Given the description of an element on the screen output the (x, y) to click on. 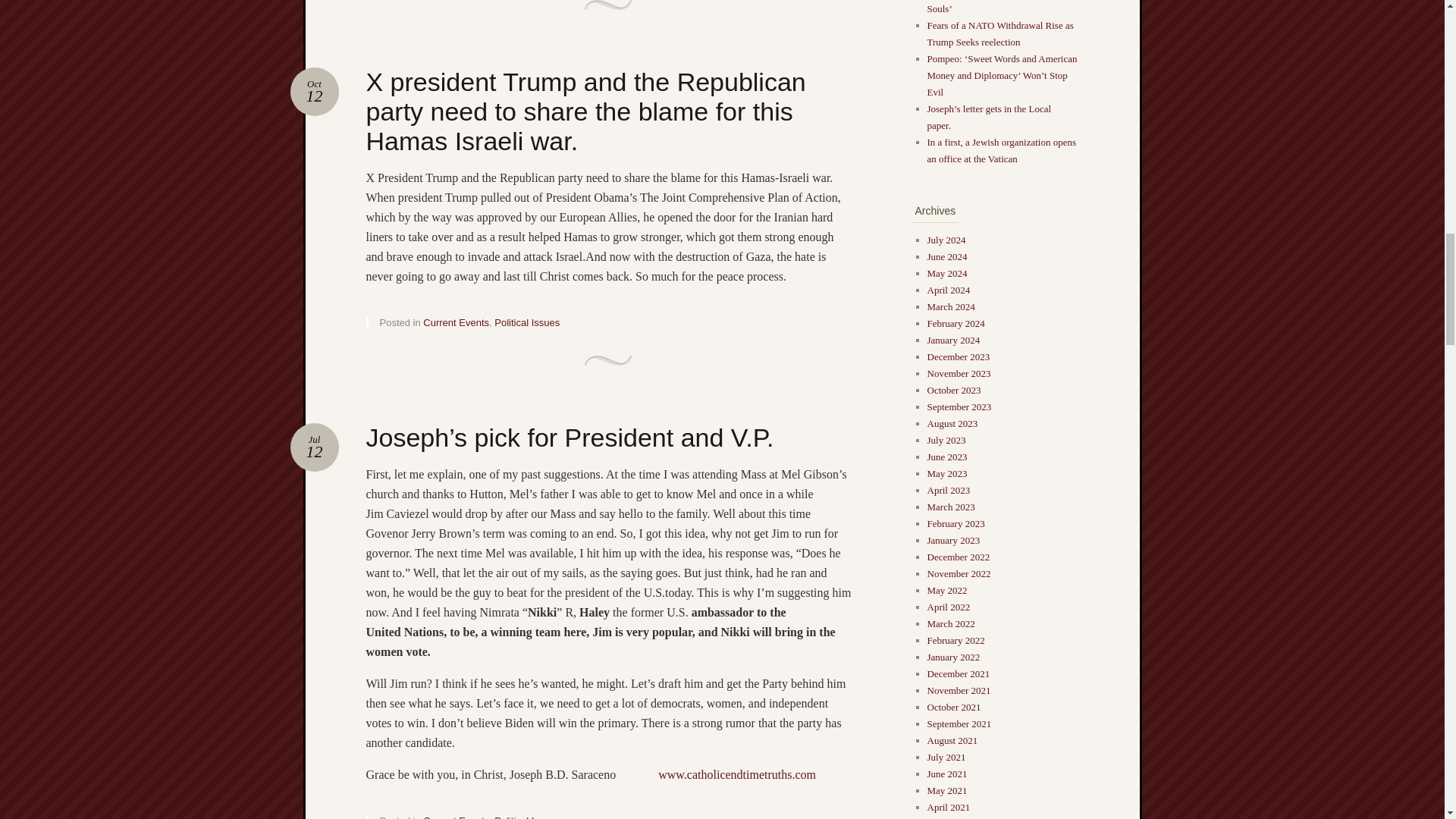
October 12 2023 (313, 91)
July 12 2023 (313, 91)
